Given the description of an element on the screen output the (x, y) to click on. 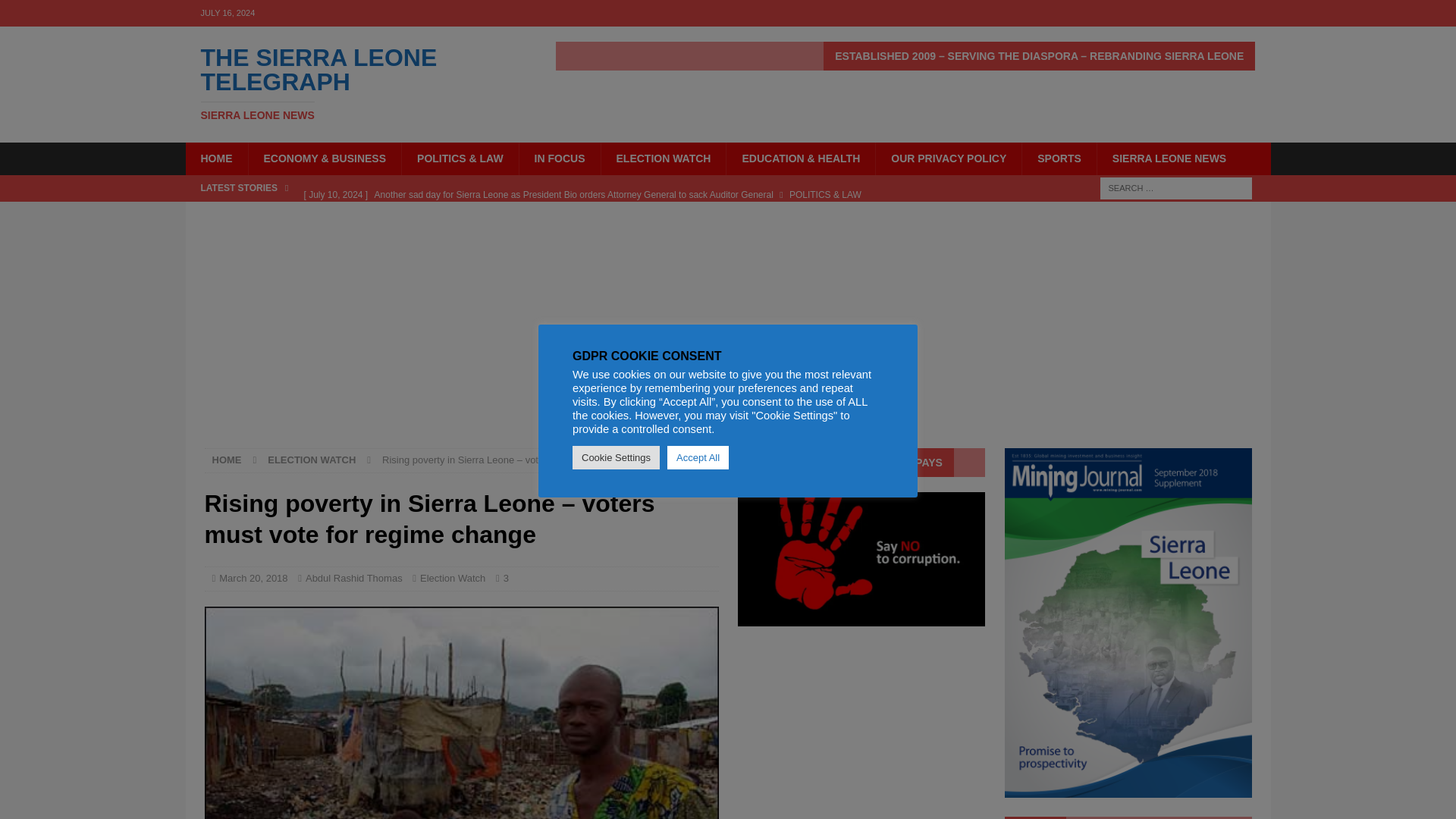
Abdul Rashid Thomas (354, 577)
IN FOCUS (558, 158)
ELECTION WATCH (662, 158)
March 20, 2018 (252, 577)
The Sierra Leone Telegraph (356, 83)
ELECTION WATCH (311, 460)
salone poverty2 (462, 712)
Election Watch (452, 577)
OUR PRIVACY POLICY (356, 83)
HOME (948, 158)
Search (226, 460)
HOME (56, 11)
